Given the description of an element on the screen output the (x, y) to click on. 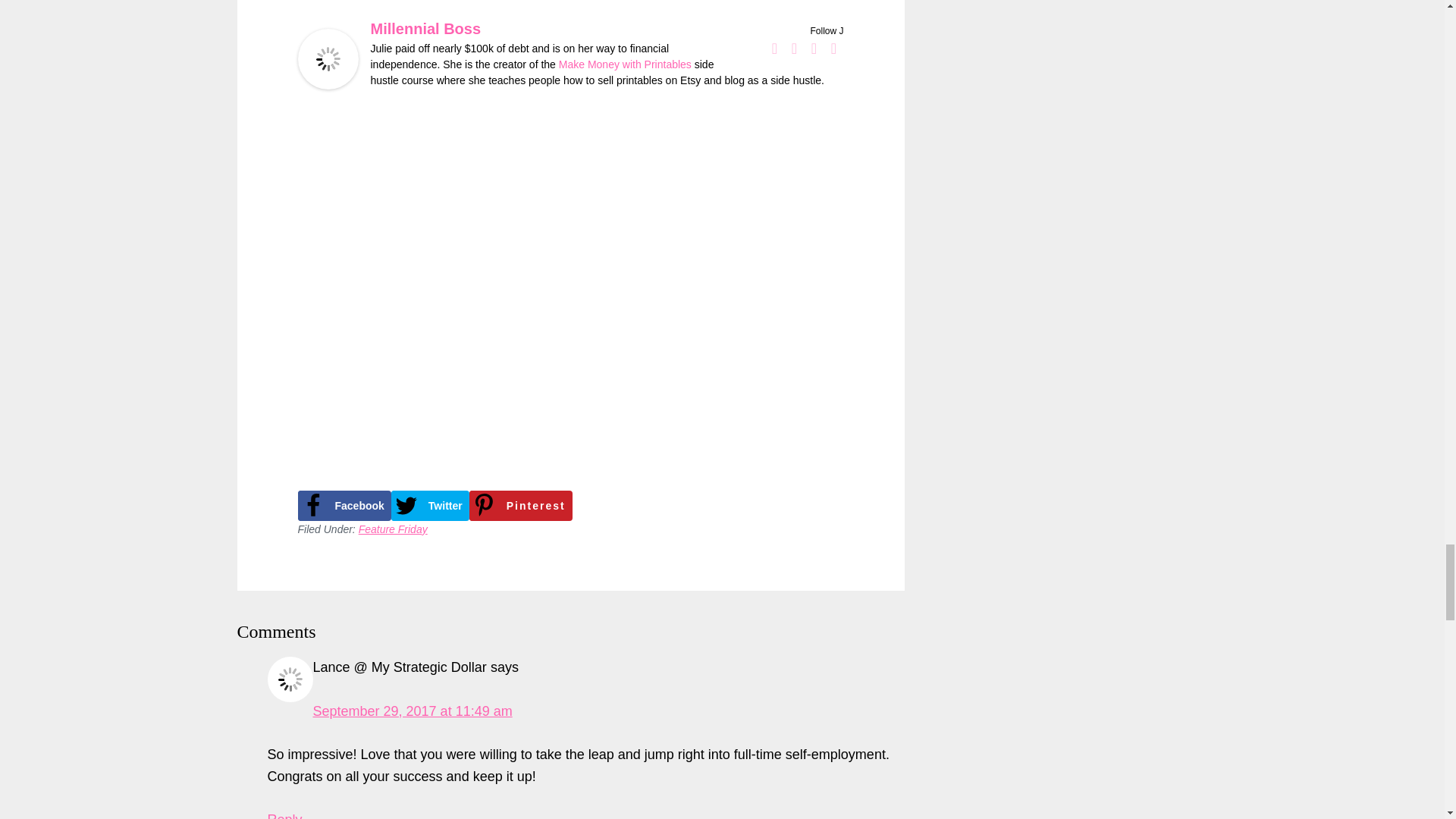
Facebook (774, 48)
Twitter (794, 48)
Pinterest (834, 48)
Instagram (814, 48)
